Given the description of an element on the screen output the (x, y) to click on. 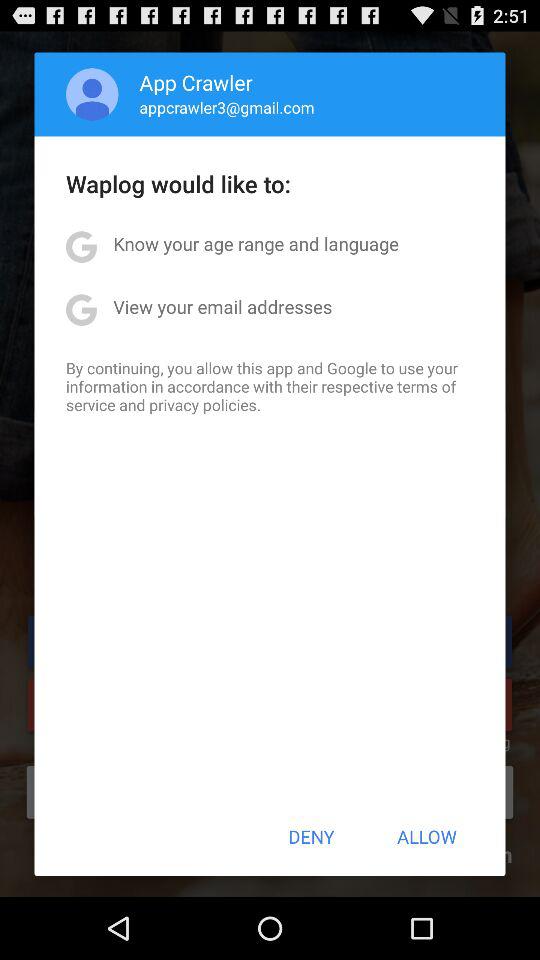
turn on the app above the waplog would like icon (226, 107)
